Given the description of an element on the screen output the (x, y) to click on. 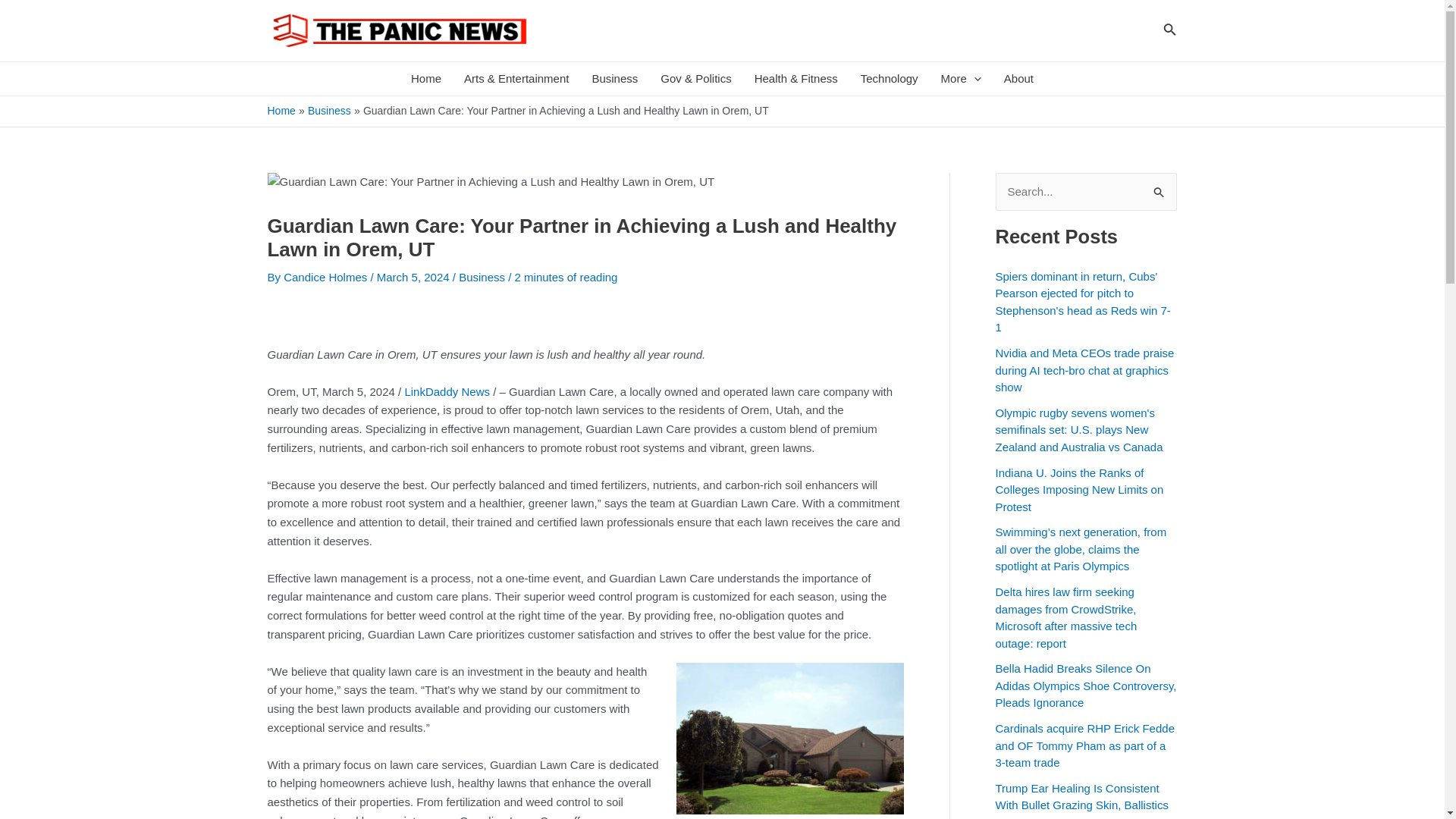
Search (1158, 187)
About (1018, 78)
View all posts by Candice Holmes (326, 277)
Search (1158, 187)
Technology (889, 78)
More (961, 78)
Business (614, 78)
Home (425, 78)
